Given the description of an element on the screen output the (x, y) to click on. 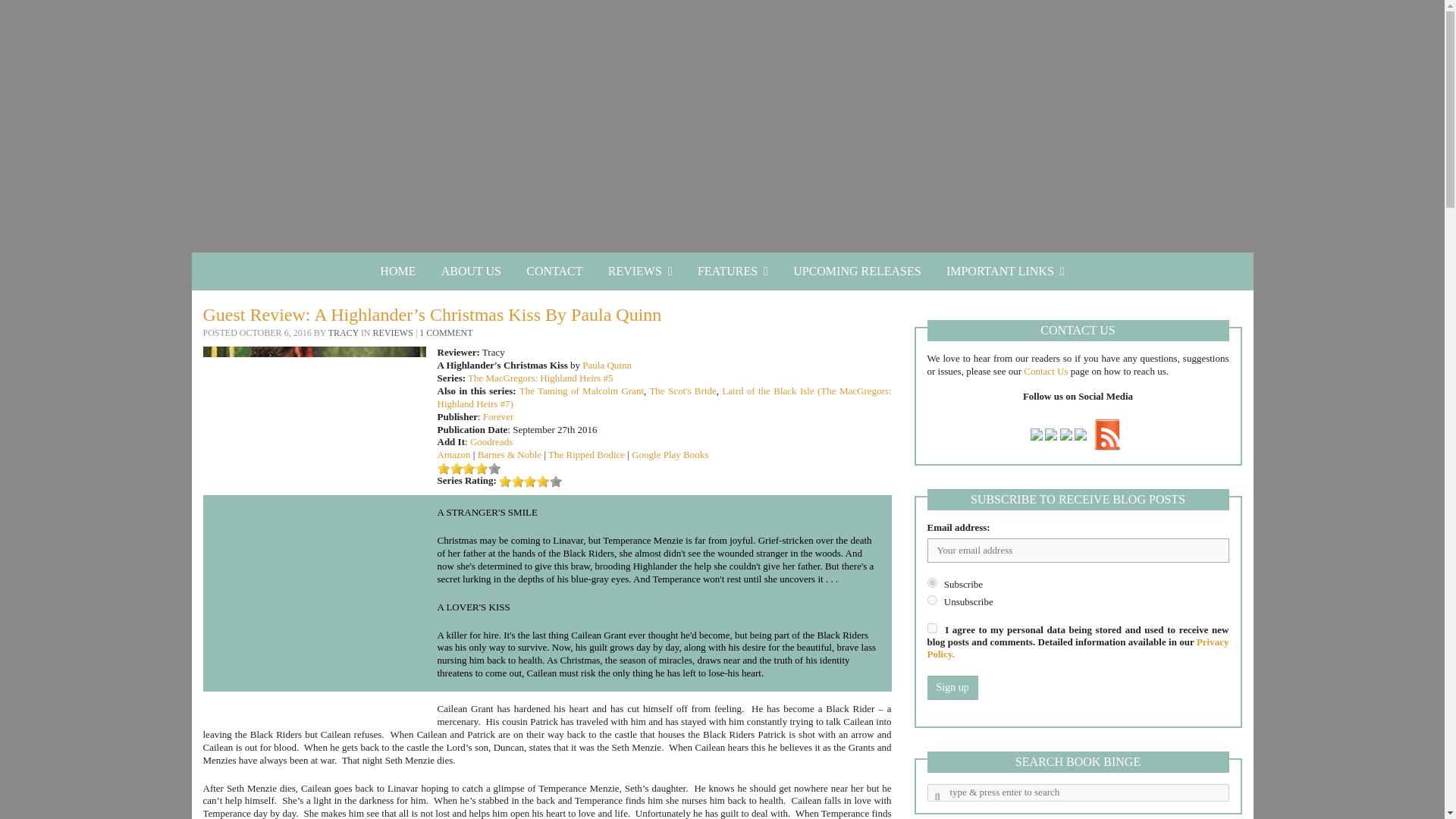
subscribe (931, 583)
HOME (397, 271)
Sign up (951, 687)
CONTACT (554, 271)
View all posts in Reviews (392, 332)
ABOUT US (470, 271)
1 (931, 628)
REVIEWS   (640, 271)
unsubscribe (931, 600)
